Given the description of an element on the screen output the (x, y) to click on. 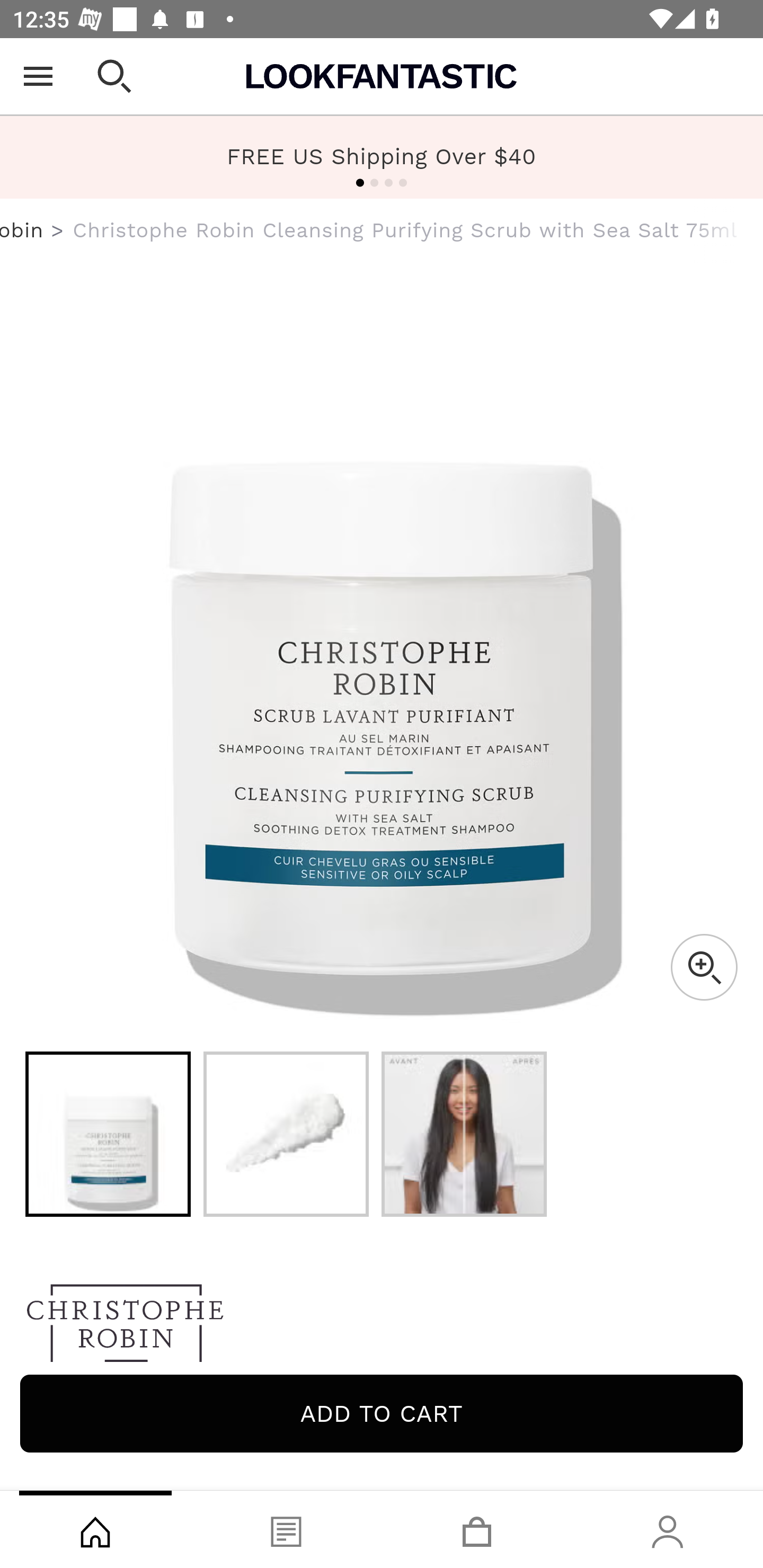
Open Menu (38, 75)
Open search (114, 75)
Lookfantastic USA (381, 75)
FREE US Shipping Over $40 (381, 157)
FREE US Shipping Over $40 (381, 155)
Christophe Robin (22, 230)
Zoom (703, 966)
Christophe Robin (381, 1327)
Add to cart (381, 1413)
Shop, tab, 1 of 4 (95, 1529)
Blog, tab, 2 of 4 (285, 1529)
Basket, tab, 3 of 4 (476, 1529)
Account, tab, 4 of 4 (667, 1529)
